Given the description of an element on the screen output the (x, y) to click on. 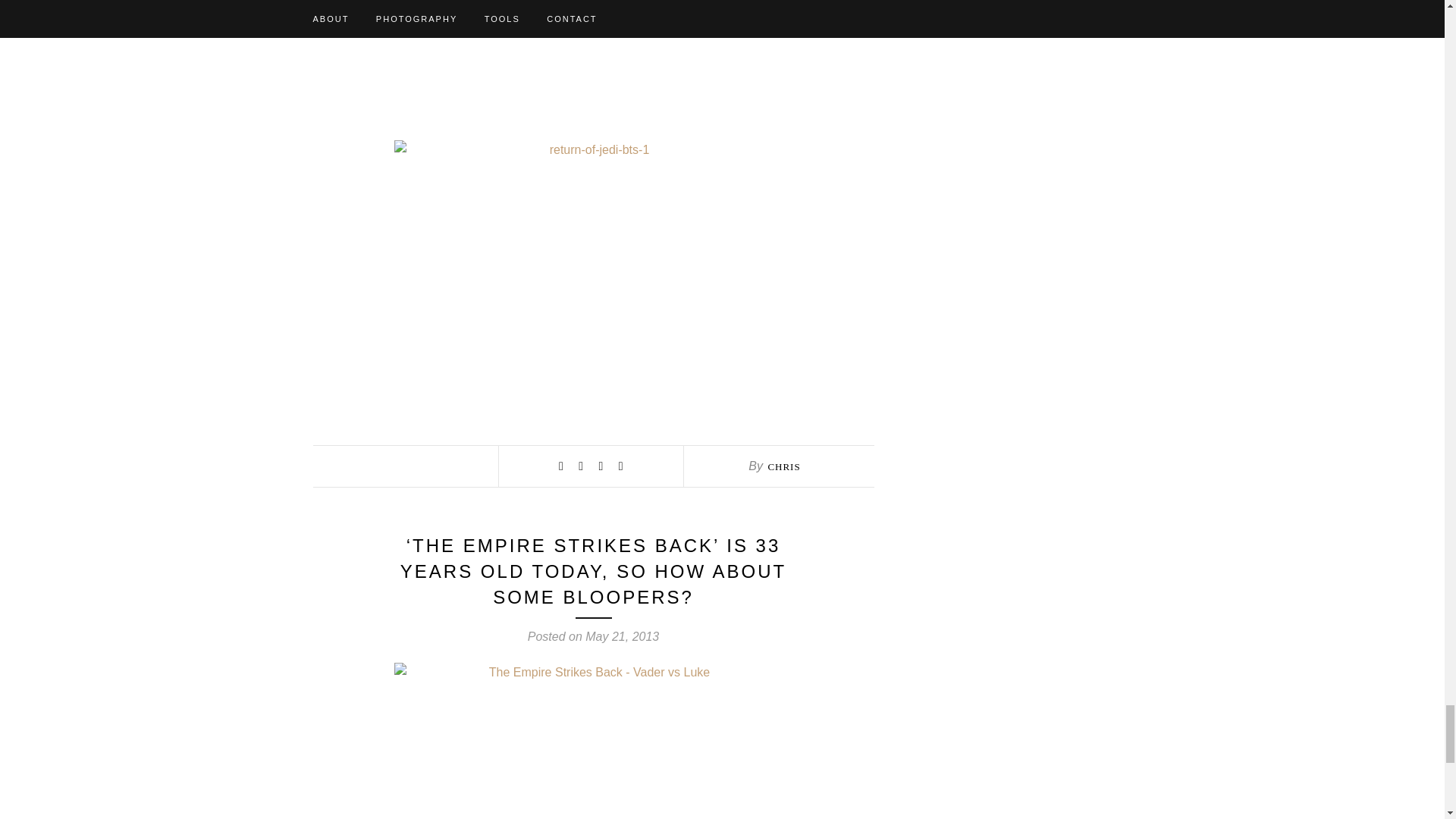
Posts by Chris (783, 466)
